Given the description of an element on the screen output the (x, y) to click on. 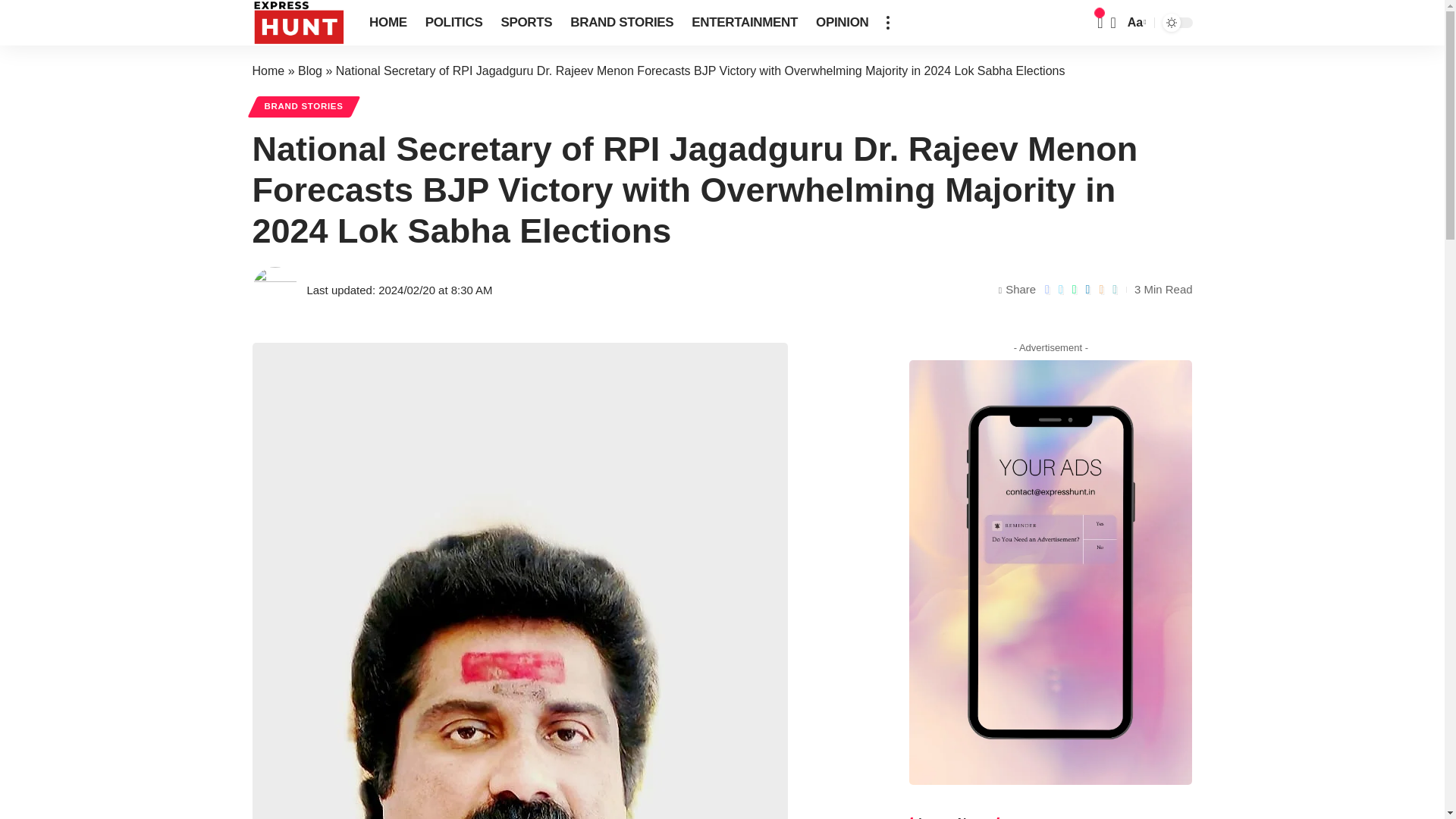
POLITICS (454, 22)
SPORTS (526, 22)
OPINION (841, 22)
BRAND STORIES (621, 22)
HOME (387, 22)
ENTERTAINMENT (744, 22)
Express Hunt (298, 22)
Aa (1135, 22)
